Given the description of an element on the screen output the (x, y) to click on. 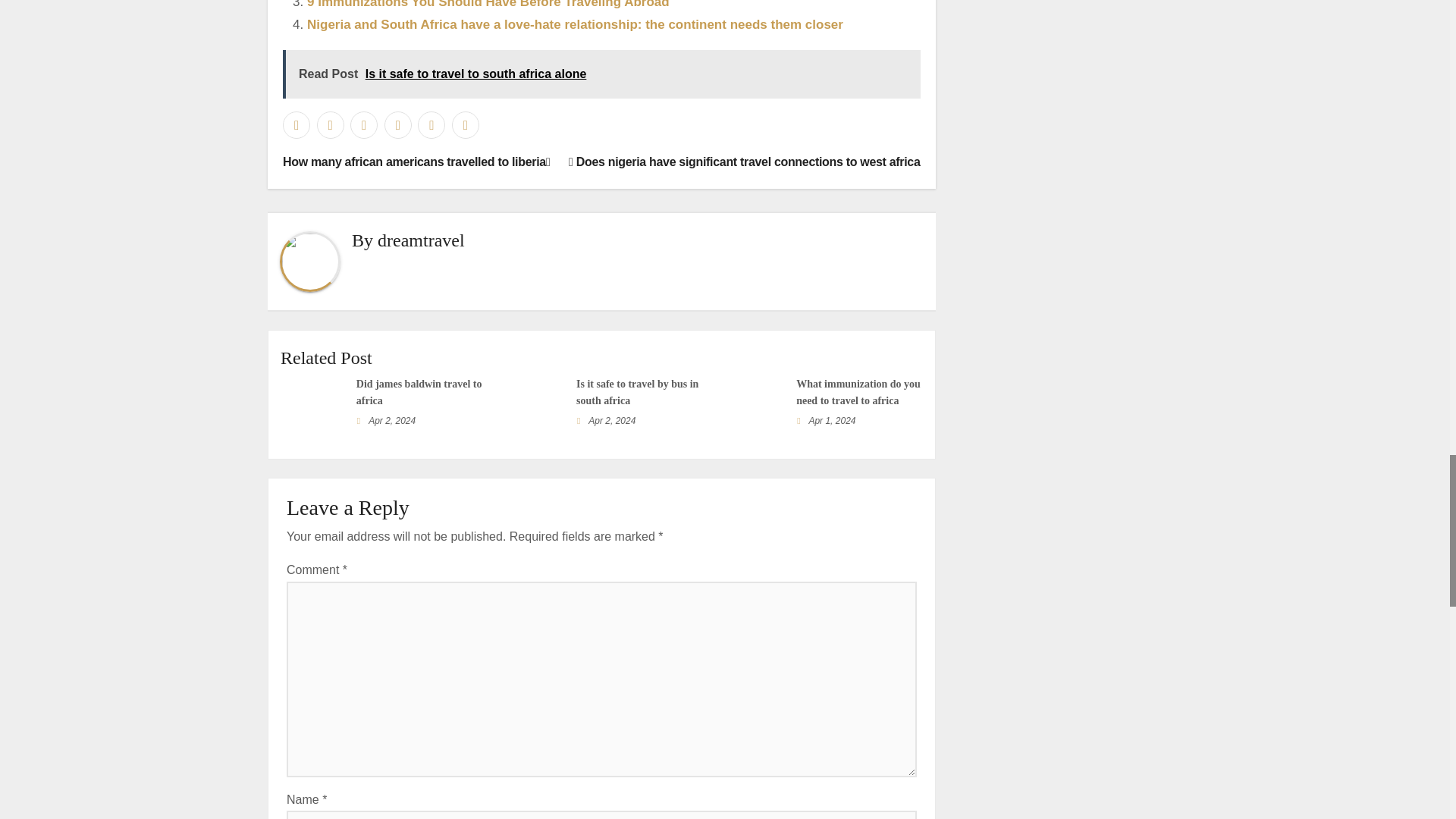
9 Immunizations You Should Have Before Traveling Abroad (488, 4)
Read Post  Is it safe to travel to south africa alone (601, 73)
How many african americans travelled to liberia (416, 161)
